Given the description of an element on the screen output the (x, y) to click on. 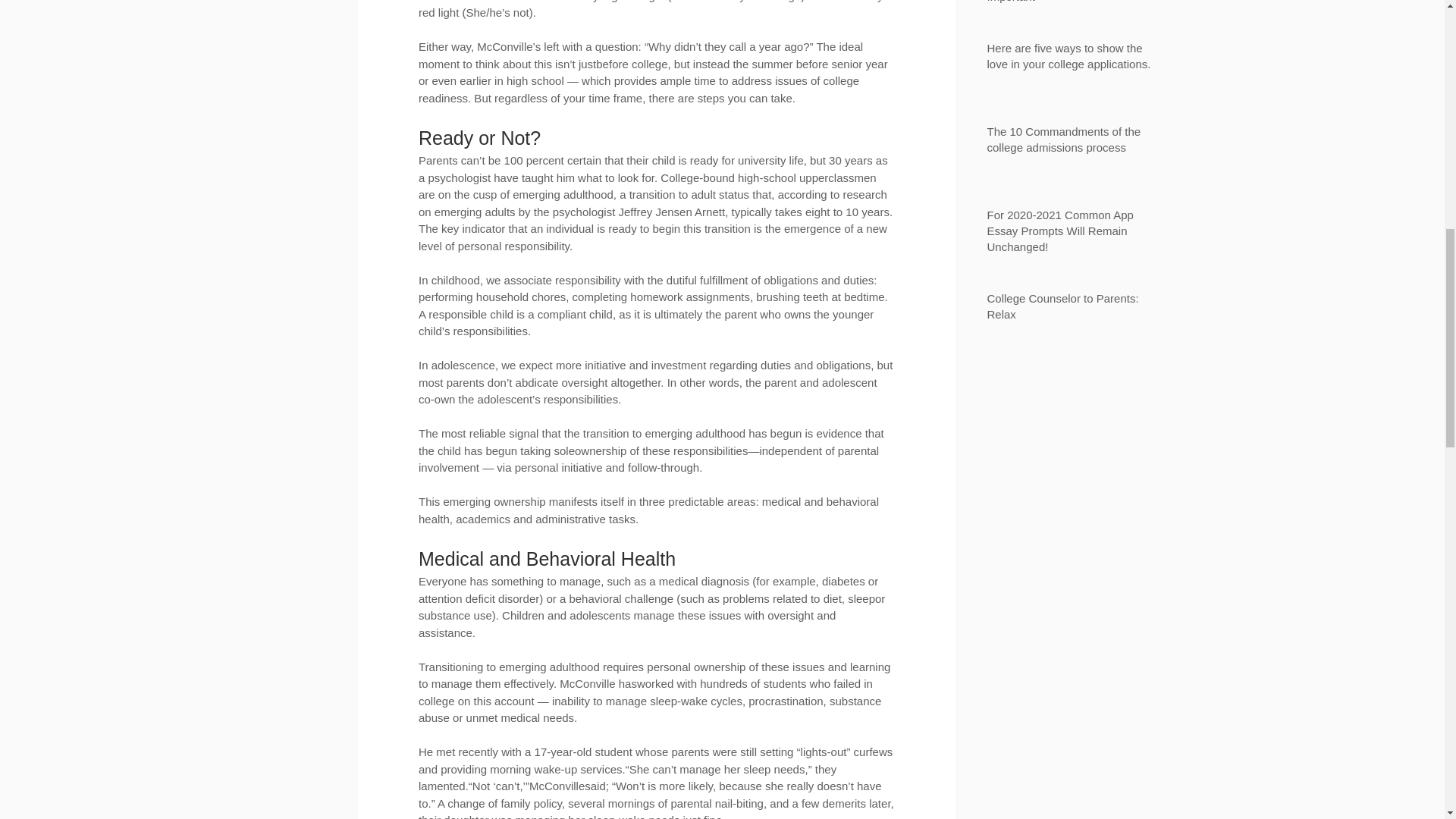
College Counselor to Parents: Relax (1072, 309)
The 10 Commandments of the college admissions process (1072, 142)
